Given the description of an element on the screen output the (x, y) to click on. 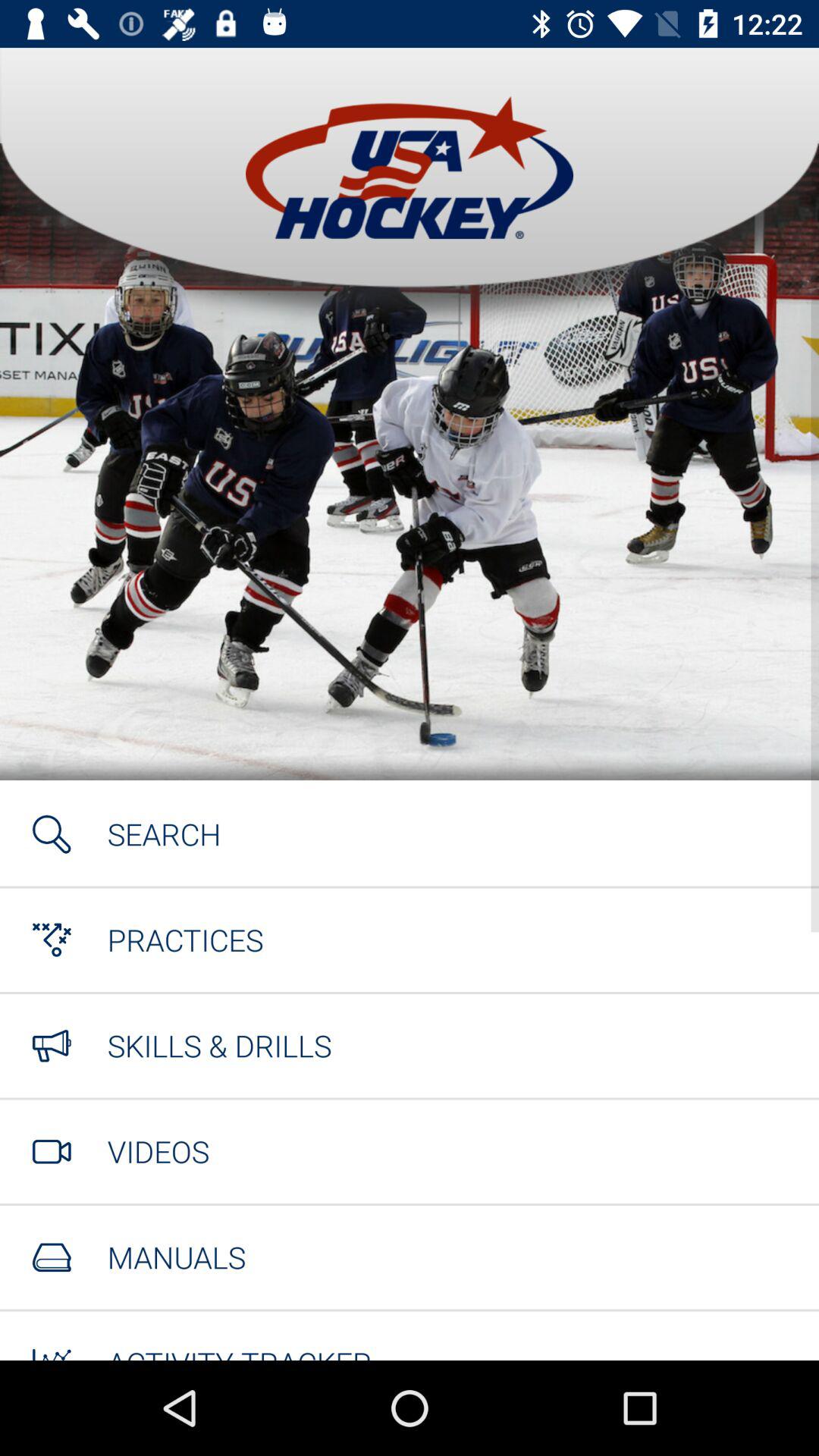
scroll until skills & drills icon (219, 1045)
